Given the description of an element on the screen output the (x, y) to click on. 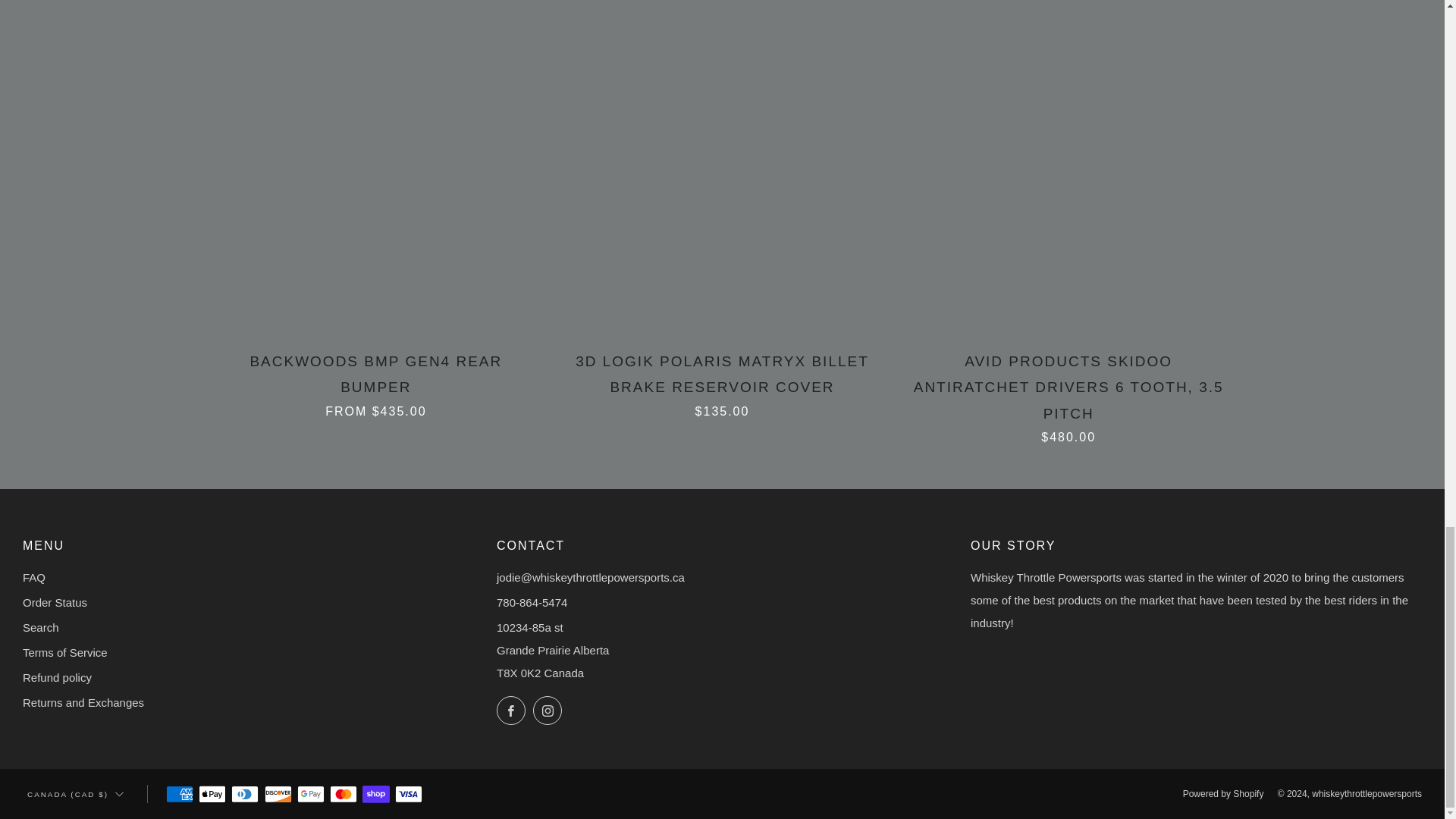
Backwoods BMP Gen4 Rear Bumper (376, 382)
3D Logik Polaris Matryx Billet Brake Reservoir Cover (721, 382)
Avid Products Skidoo Antiratchet Drivers 6 tooth, 3.5 pitch (1068, 395)
